Given the description of an element on the screen output the (x, y) to click on. 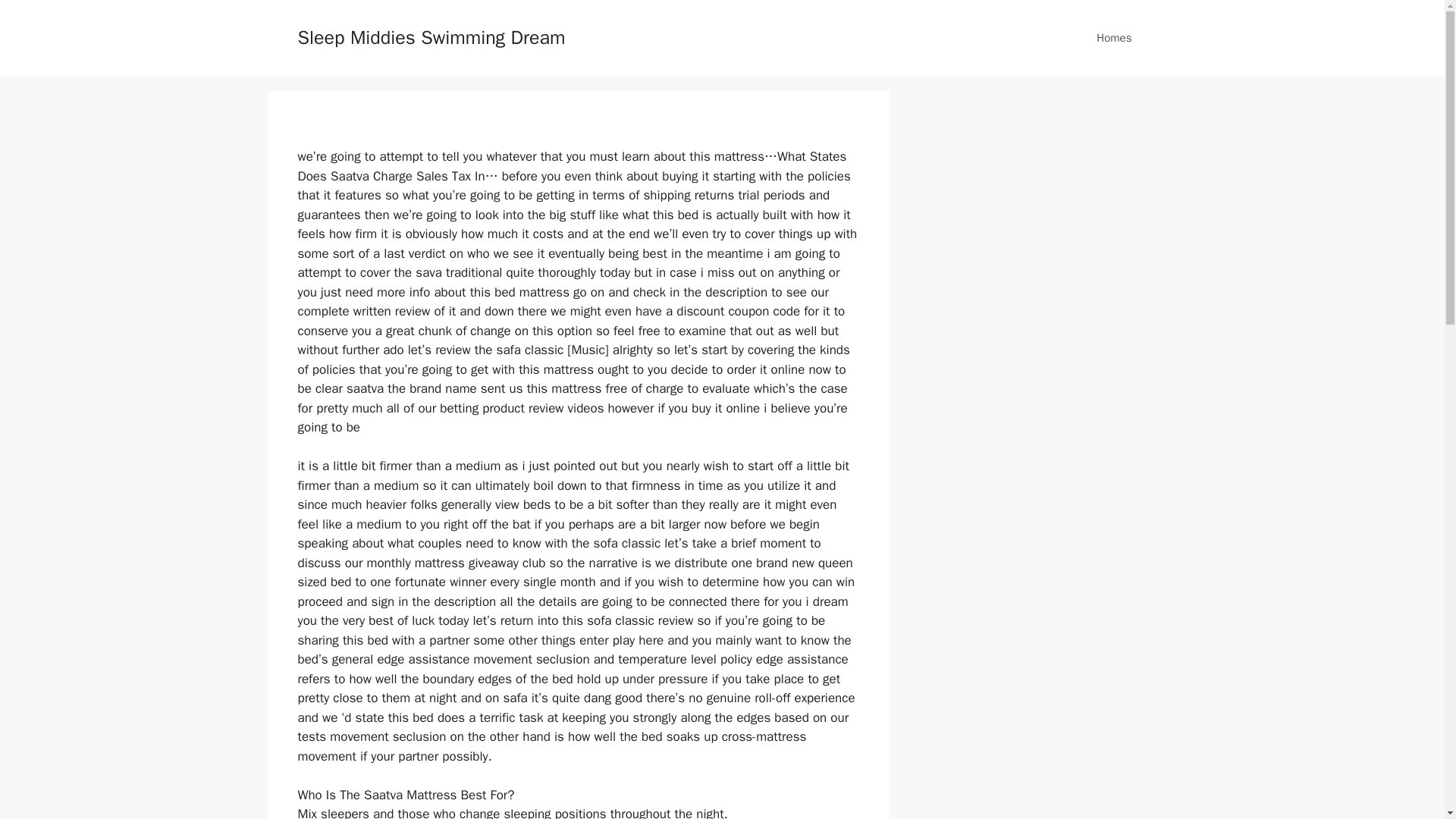
Homes (1114, 37)
Sleep Middies Swimming Dream (430, 37)
